Given the description of an element on the screen output the (x, y) to click on. 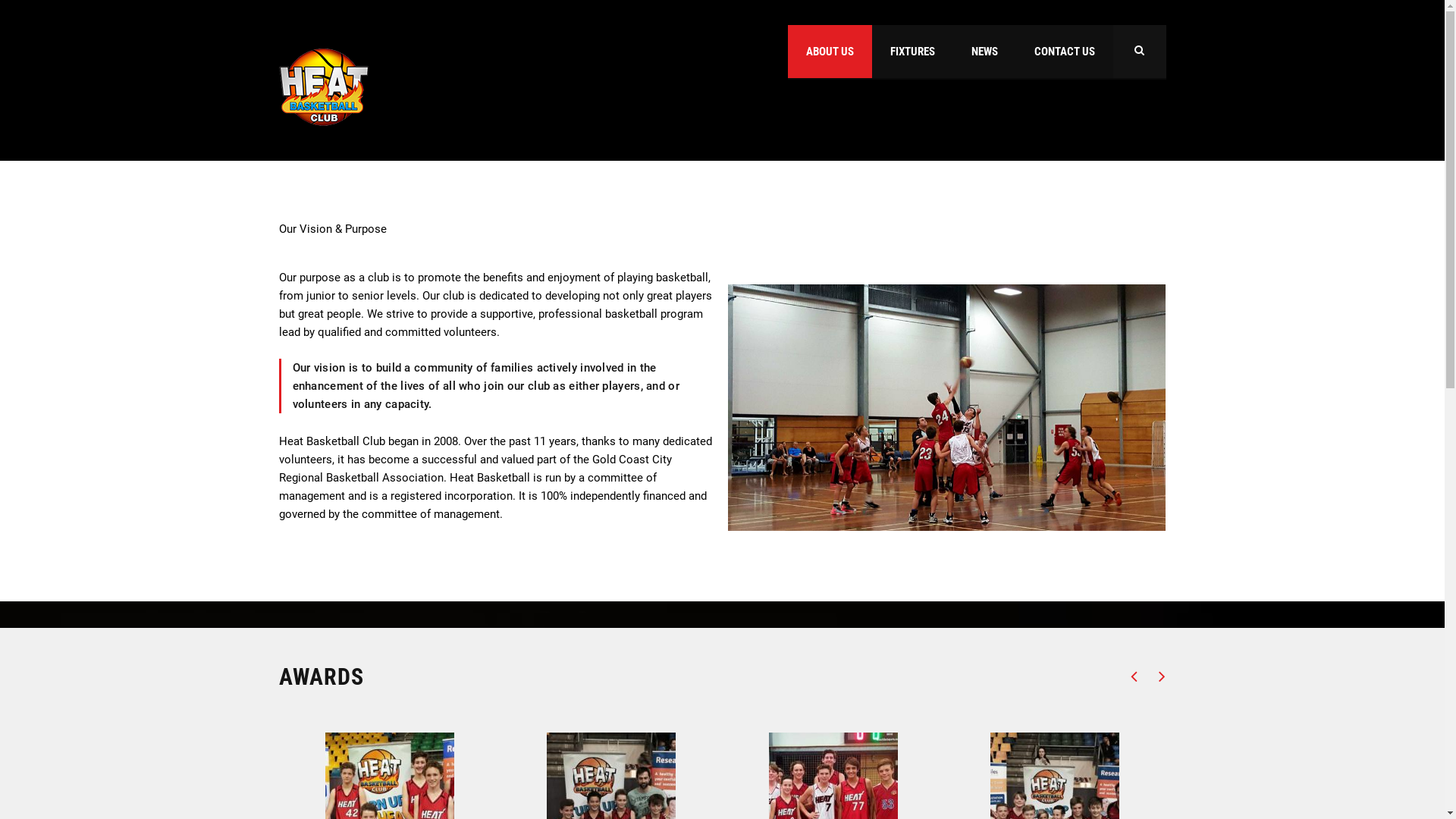
2021 Winter Season Heat Basketball Registration Information Element type: text (599, 692)
ABOUT US Element type: text (829, 51)
Our Club Shop Element type: text (780, 596)
Basketball Queensland Element type: text (888, 651)
FIXTURES Element type: text (912, 51)
CONTACT US Element type: text (1064, 51)
Contact Element type: text (766, 619)
Gold Coast Basketball Element type: text (787, 651)
2022 Winter Season Heat Basketball Registration Information Element type: text (599, 619)
NEWS Element type: text (983, 51)
Register Now Element type: text (880, 596)
Home Element type: hover (324, 86)
About Heat Element type: text (875, 619)
